Given the description of an element on the screen output the (x, y) to click on. 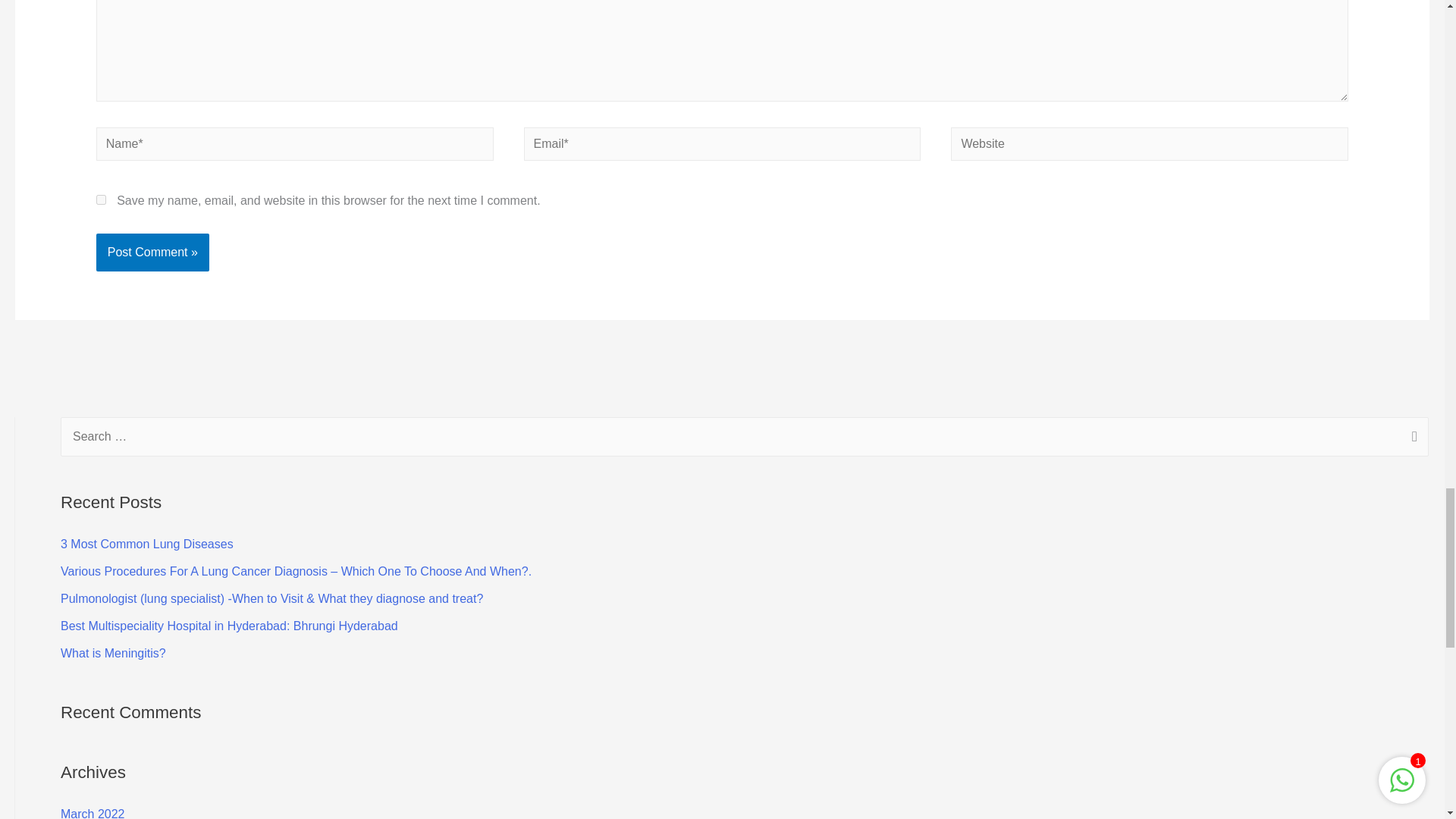
yes (101, 199)
